Given the description of an element on the screen output the (x, y) to click on. 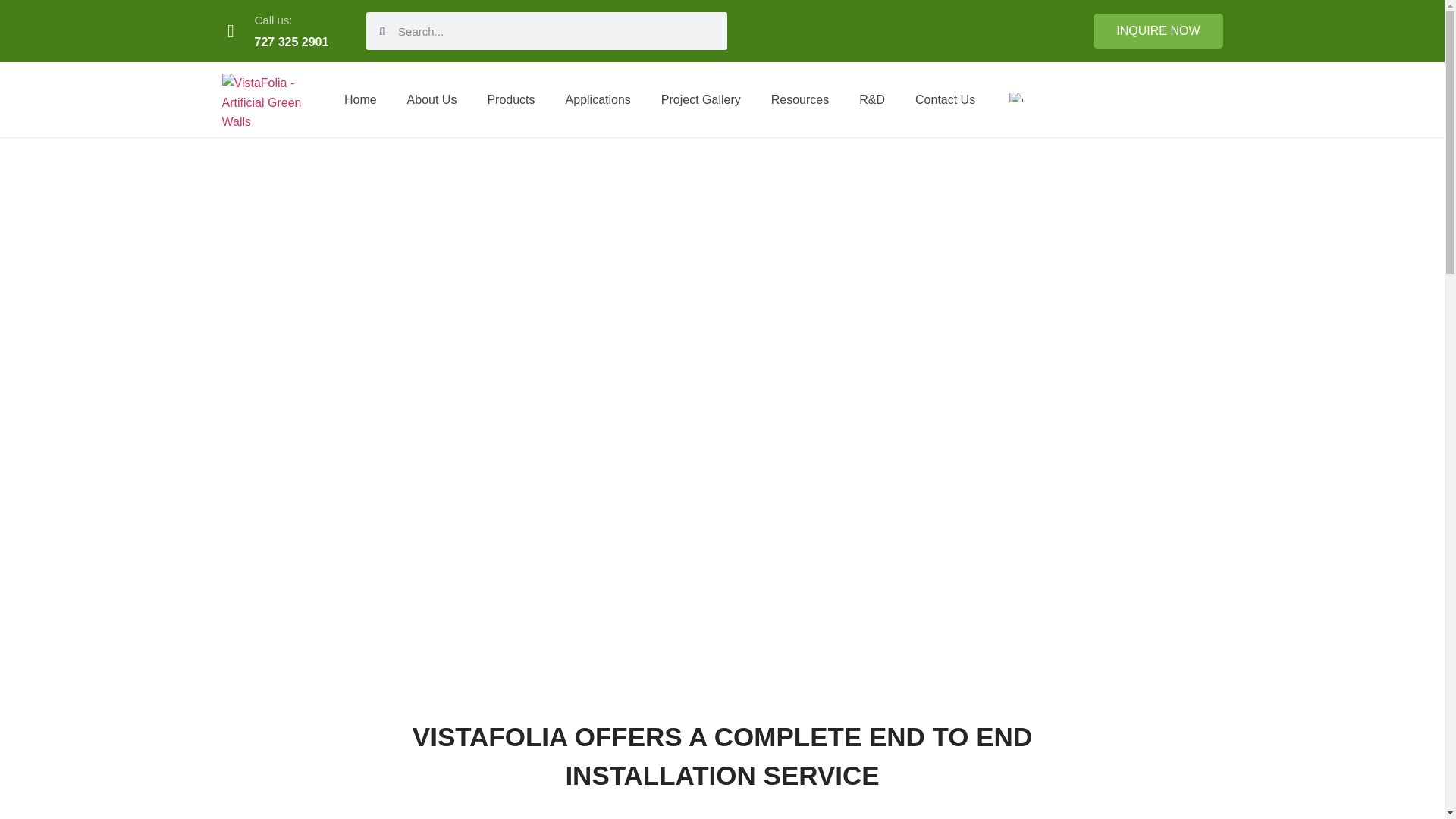
INQUIRE NOW (1158, 30)
Applications (598, 99)
About Us (431, 99)
Home (360, 99)
Products (510, 99)
727 325 2901 (291, 42)
English (1016, 96)
